Given the description of an element on the screen output the (x, y) to click on. 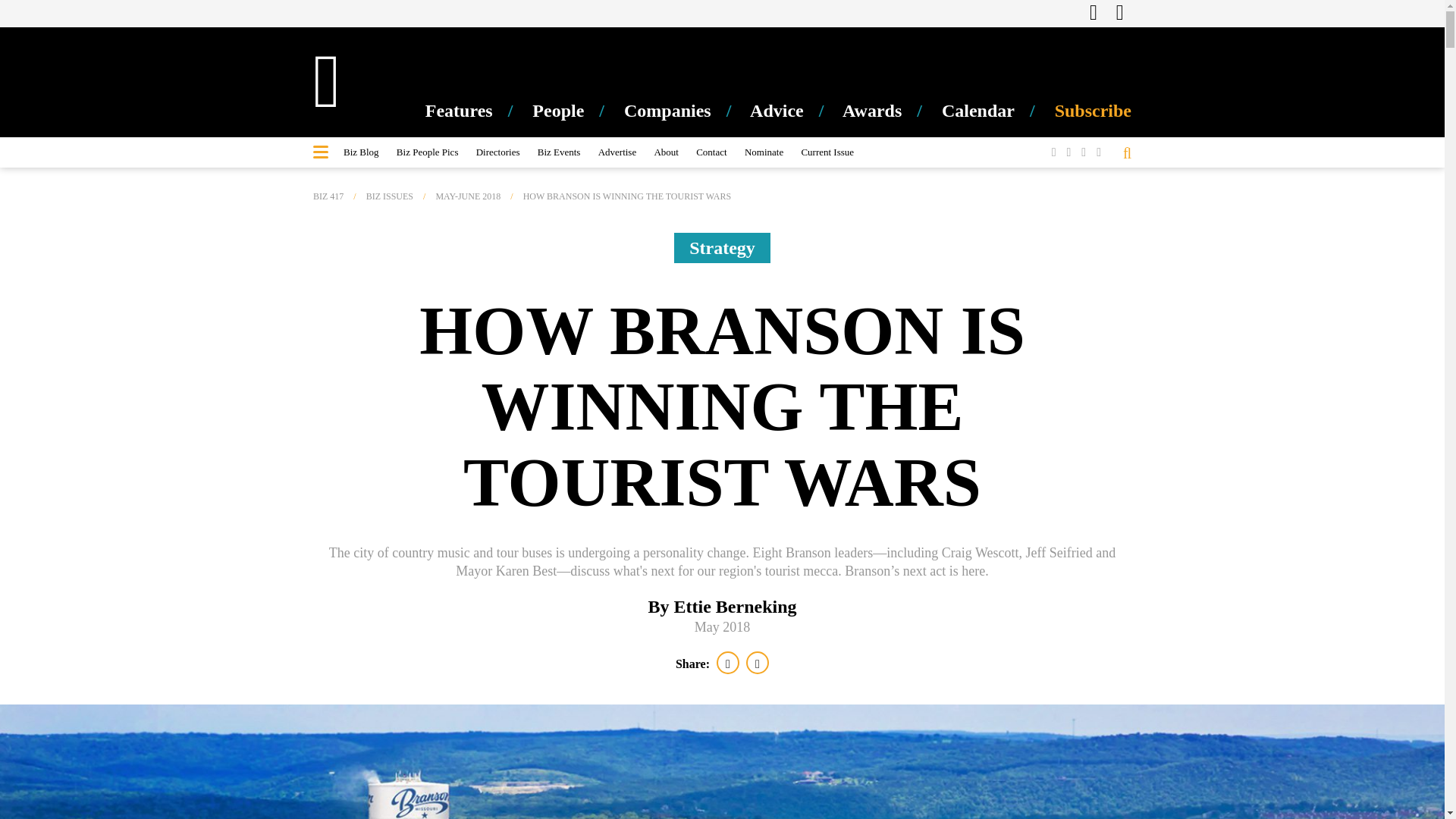
Biz People Pics (427, 152)
People (576, 110)
Awards (890, 110)
Advice (793, 110)
Advertise (617, 152)
Features (476, 110)
Features (476, 110)
Contact (710, 152)
Nominate (763, 152)
Current Issue (826, 152)
